Given the description of an element on the screen output the (x, y) to click on. 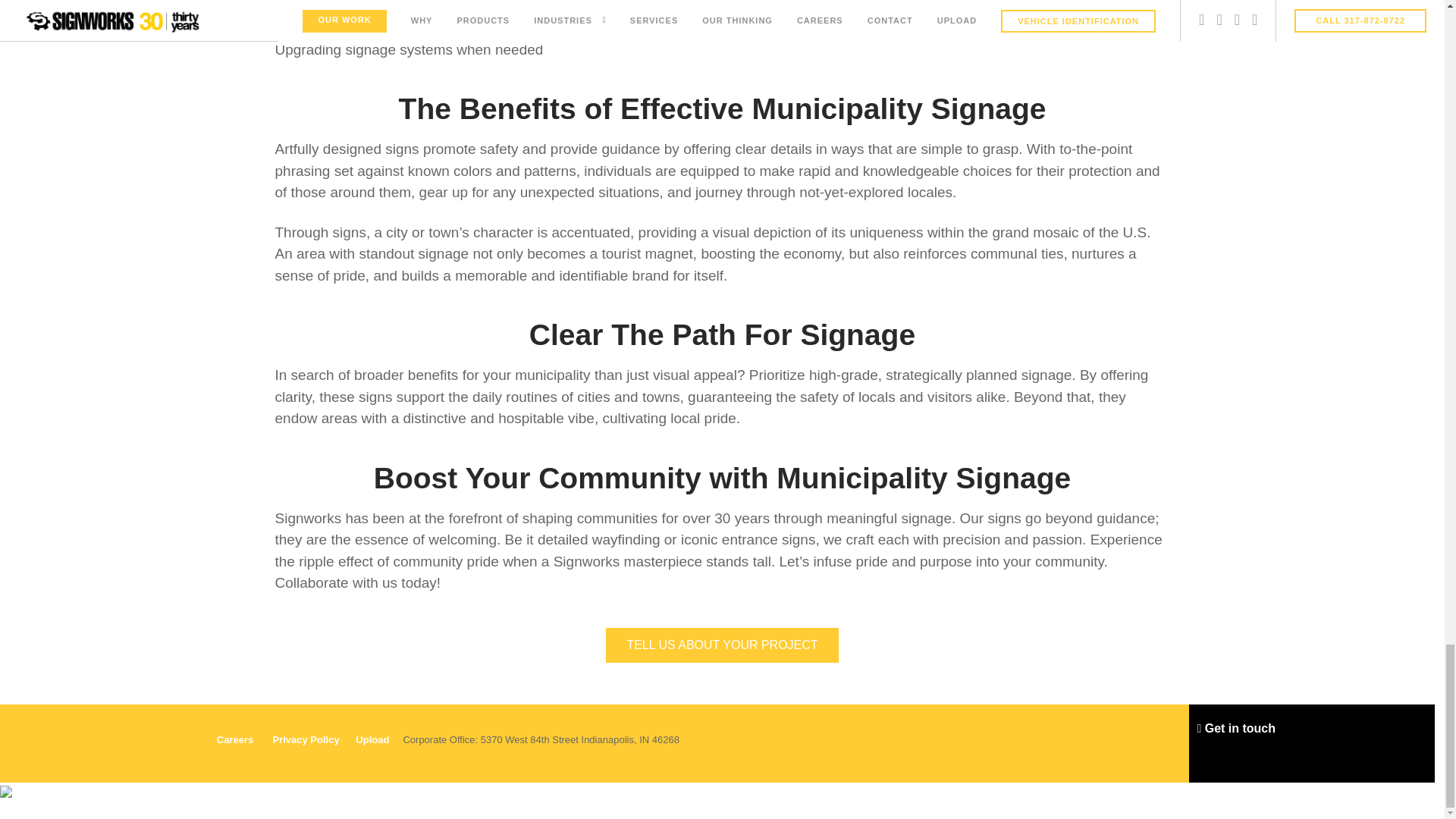
Get in touch (1235, 727)
Upload (371, 739)
TELL US ABOUT YOUR PROJECT (721, 645)
Privacy Policy (305, 739)
Careers  (236, 739)
